Given the description of an element on the screen output the (x, y) to click on. 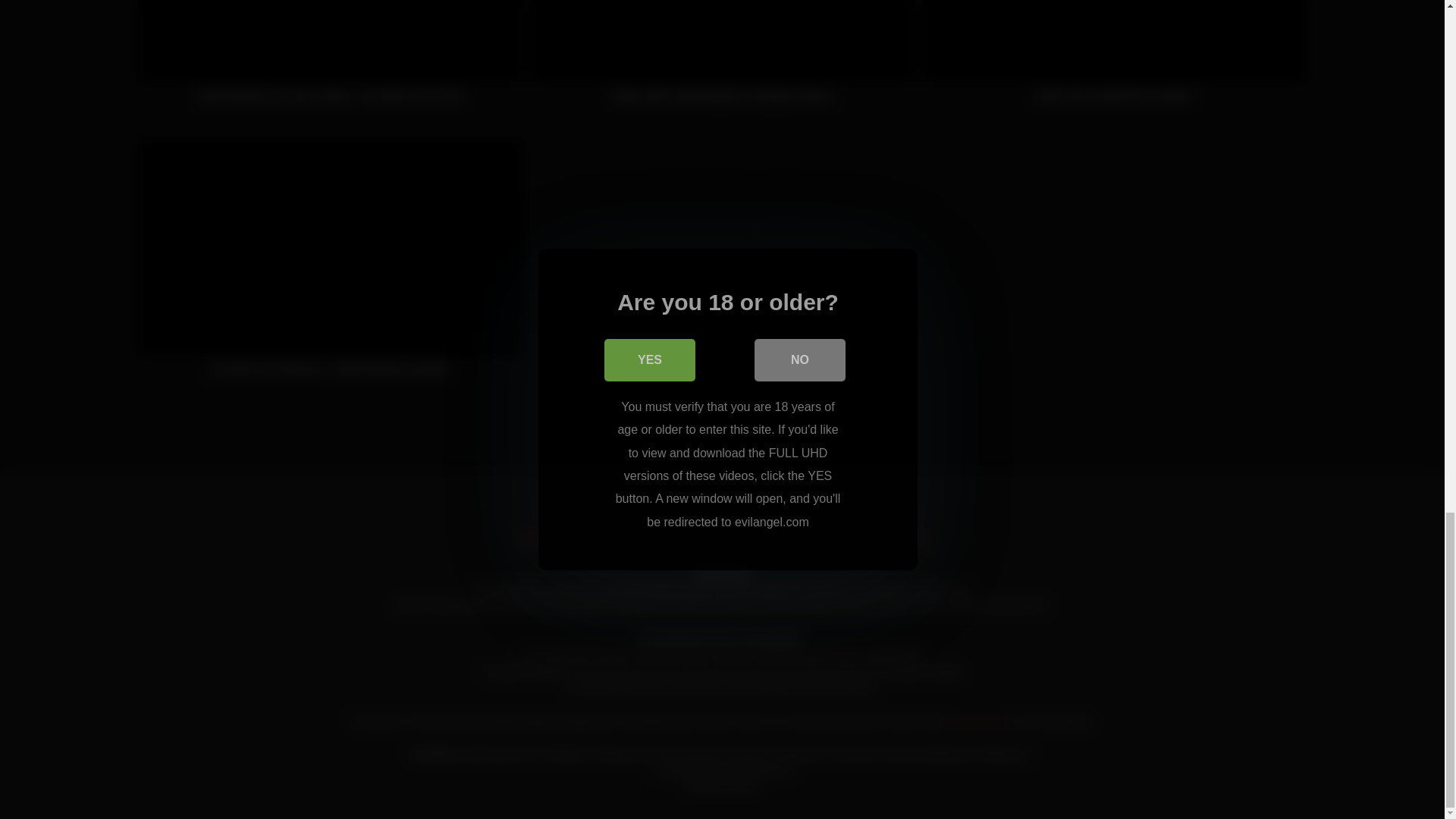
Home (534, 538)
Slutty Karlie Gets Banged on Naughty America (721, 59)
Privacy Policy (615, 538)
Karlie Gets Fucked And Creamed (1113, 59)
2257 (840, 538)
Karlie Gets Fucked And Creamed (1113, 59)
read this page (978, 720)
Sitemap (903, 538)
Slutty Karlie Gets Banged on Naughty America (721, 59)
Terms and Conditions (740, 538)
